Given the description of an element on the screen output the (x, y) to click on. 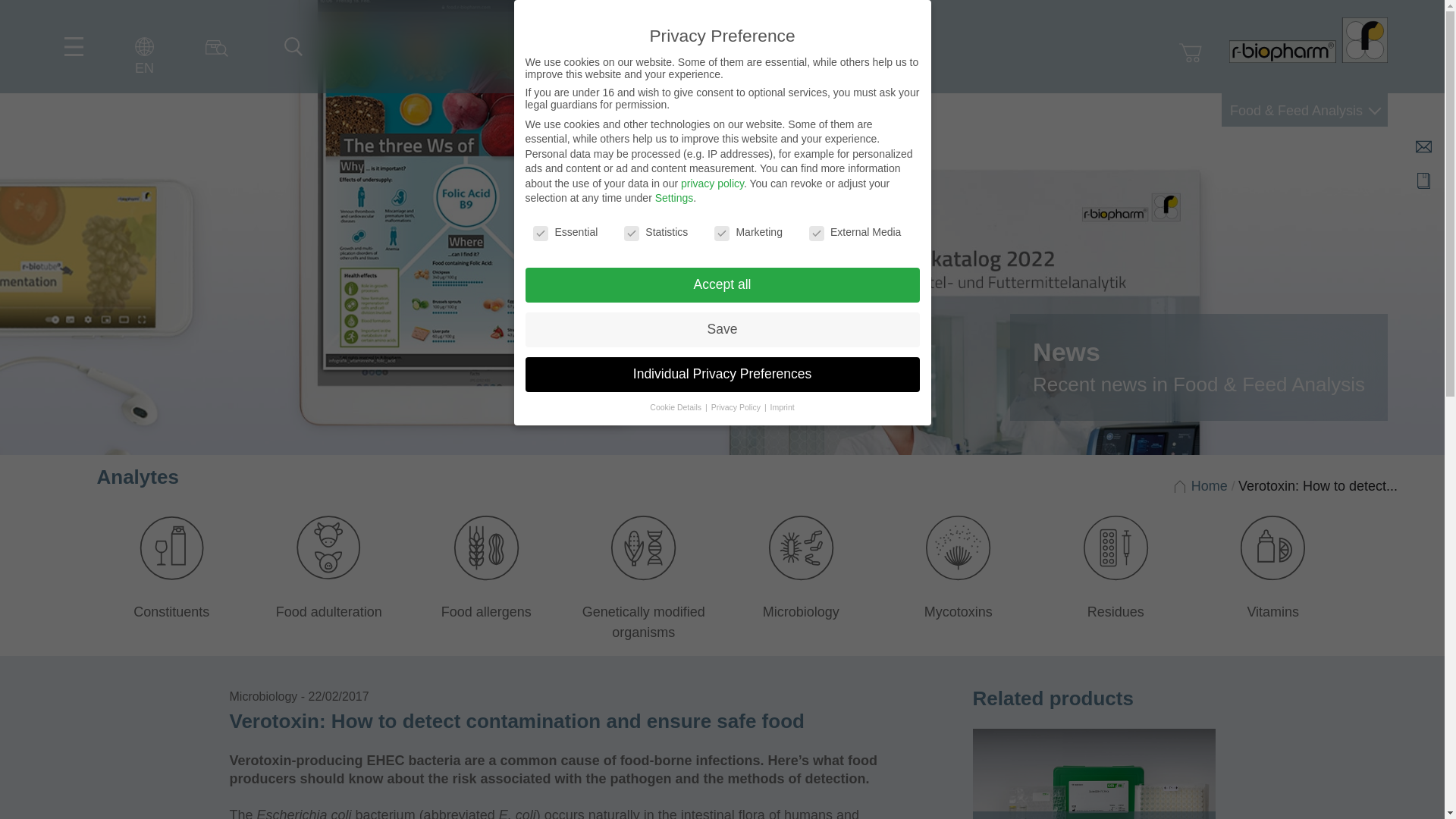
Go to R-Biopharm Webshop (1190, 52)
Verotoxin: How to detect contamination and ensure safe food (1318, 485)
Search for: (288, 40)
